Given the description of an element on the screen output the (x, y) to click on. 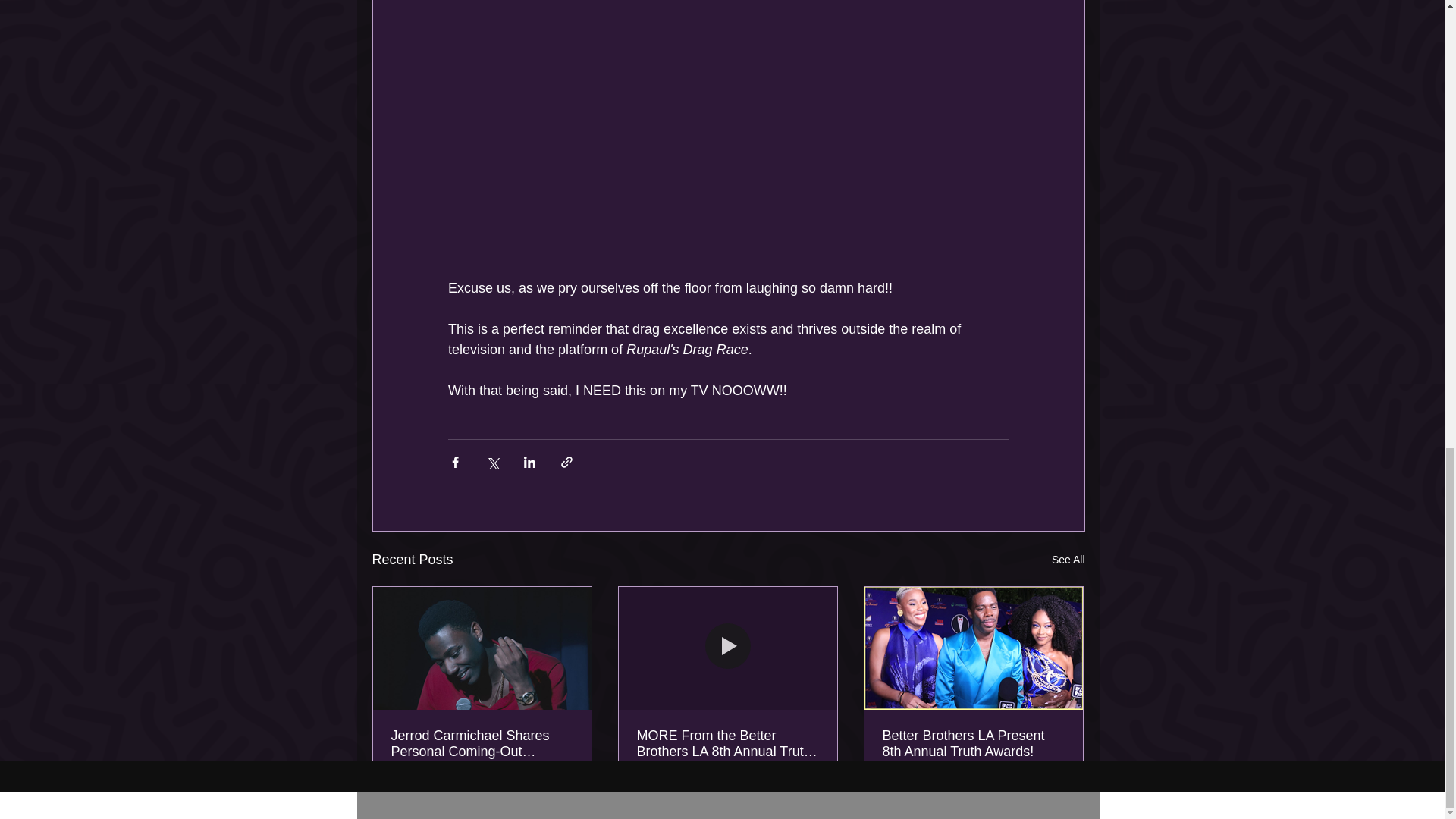
Better Brothers LA Present 8th Annual Truth Awards! (973, 743)
See All (1067, 558)
